Given the description of an element on the screen output the (x, y) to click on. 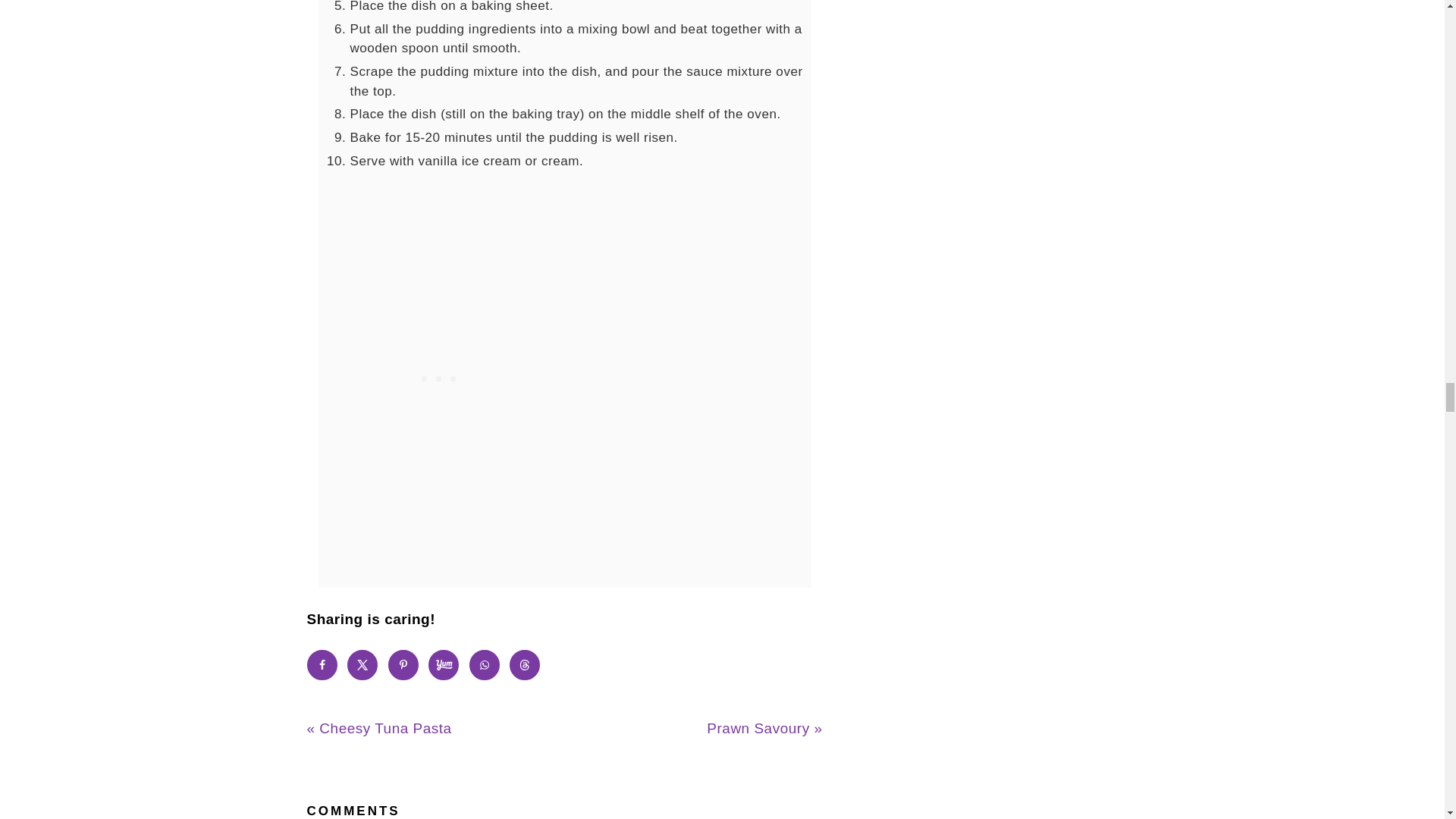
Share on WhatsApp (483, 665)
Share on X (362, 665)
Save to Pinterest (403, 665)
Share on Facebook (320, 665)
Share on Yummly (443, 665)
Share on Threads (524, 665)
